Given the description of an element on the screen output the (x, y) to click on. 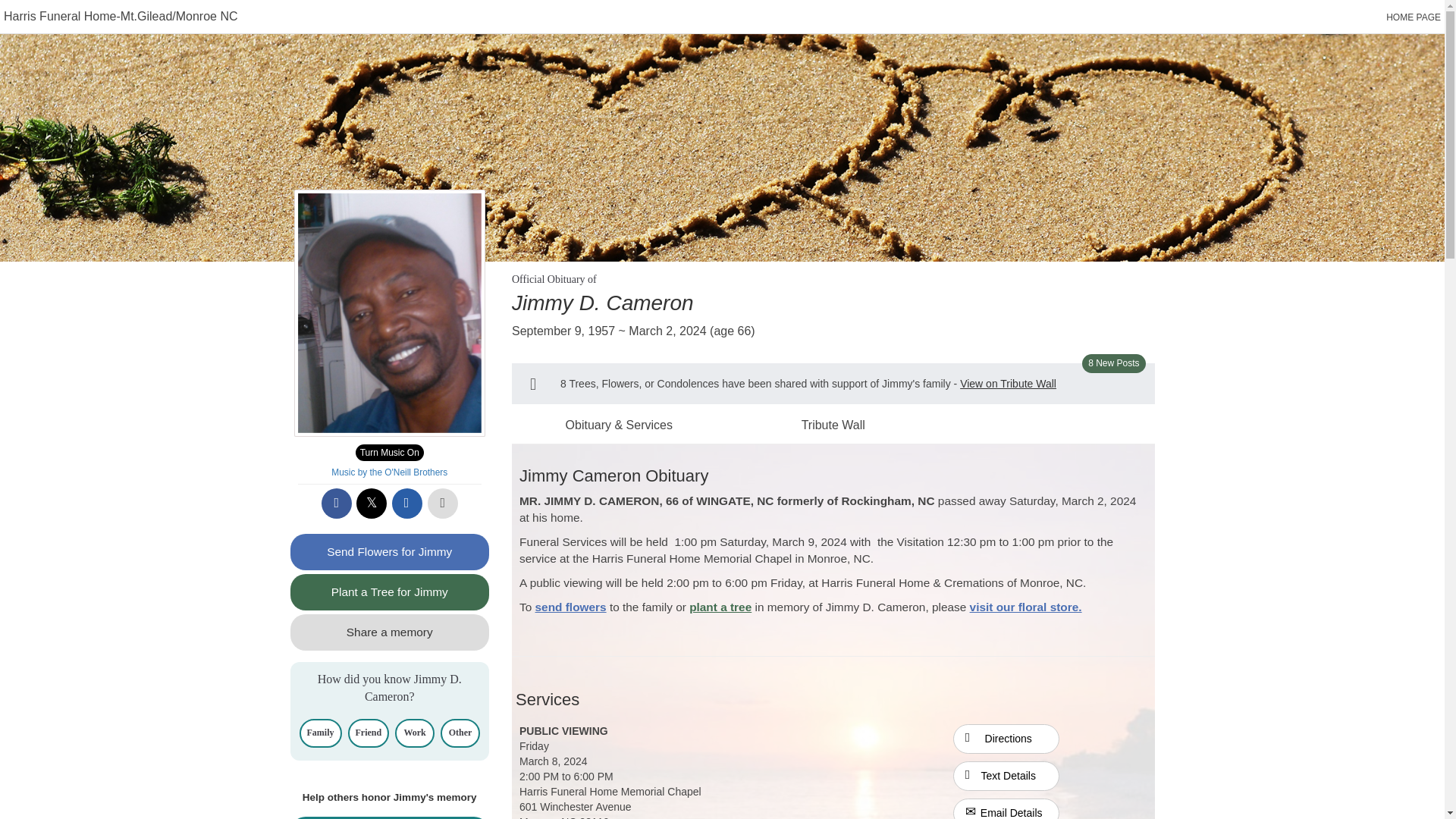
Plant a Tree for Jimmy (389, 592)
send flowers (571, 606)
Share via email (406, 503)
Turn Music On (389, 452)
Email Details (1006, 808)
View on Tribute Wall (1008, 383)
Directions (1006, 738)
Share to Facebook (336, 503)
Send Flowers for Jimmy (389, 551)
Text Details (1006, 776)
visit our floral store. (1025, 606)
Printable copy (443, 503)
Share Obituary (389, 817)
Share on X (371, 503)
HOME PAGE (1413, 17)
